Given the description of an element on the screen output the (x, y) to click on. 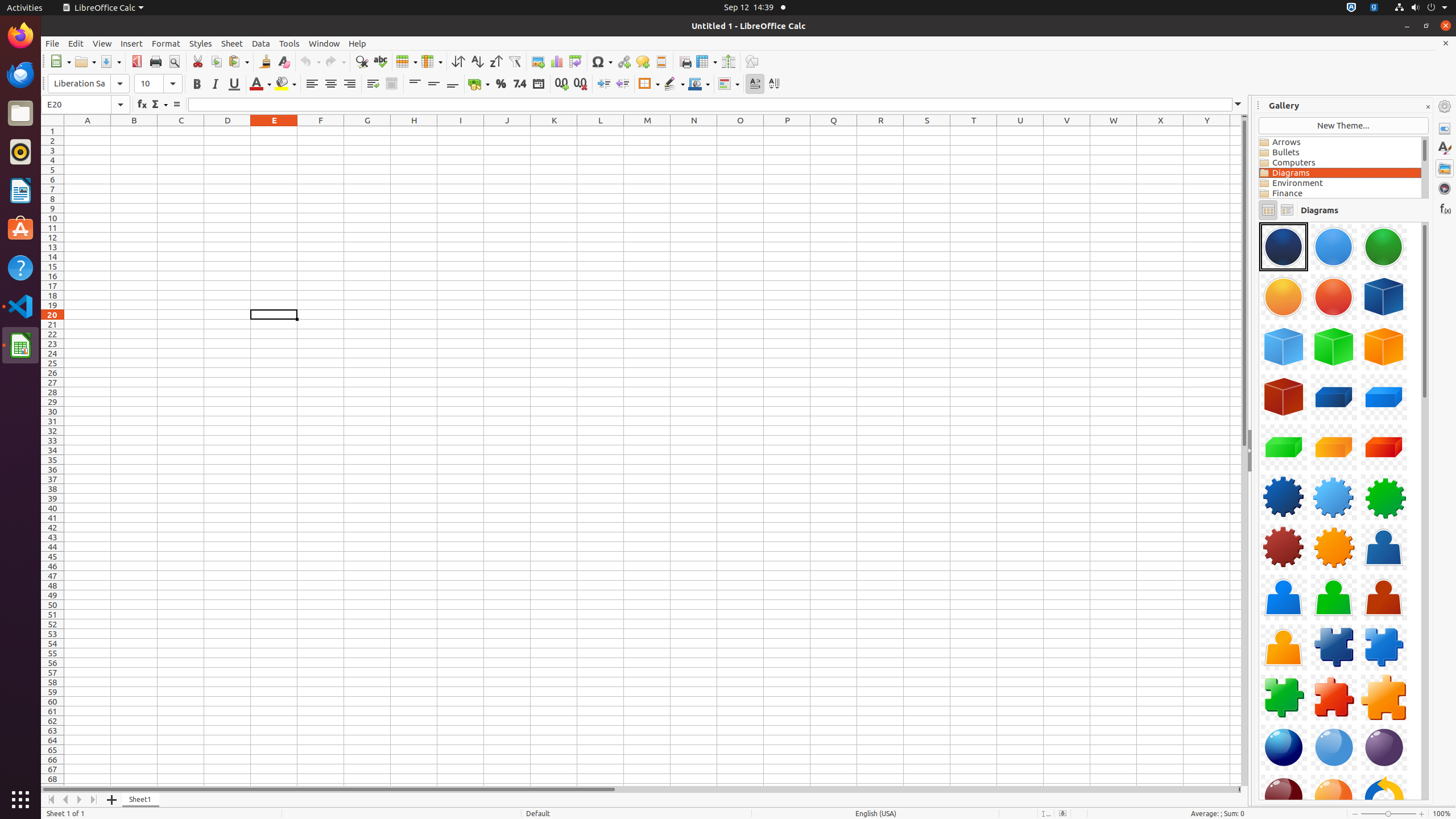
D1 Element type: table-cell (227, 130)
Image Element type: push-button (537, 61)
Component-Cube04-Orange Element type: list-item (1383, 346)
Symbol Element type: push-button (601, 61)
L1 Element type: table-cell (600, 130)
